Given the description of an element on the screen output the (x, y) to click on. 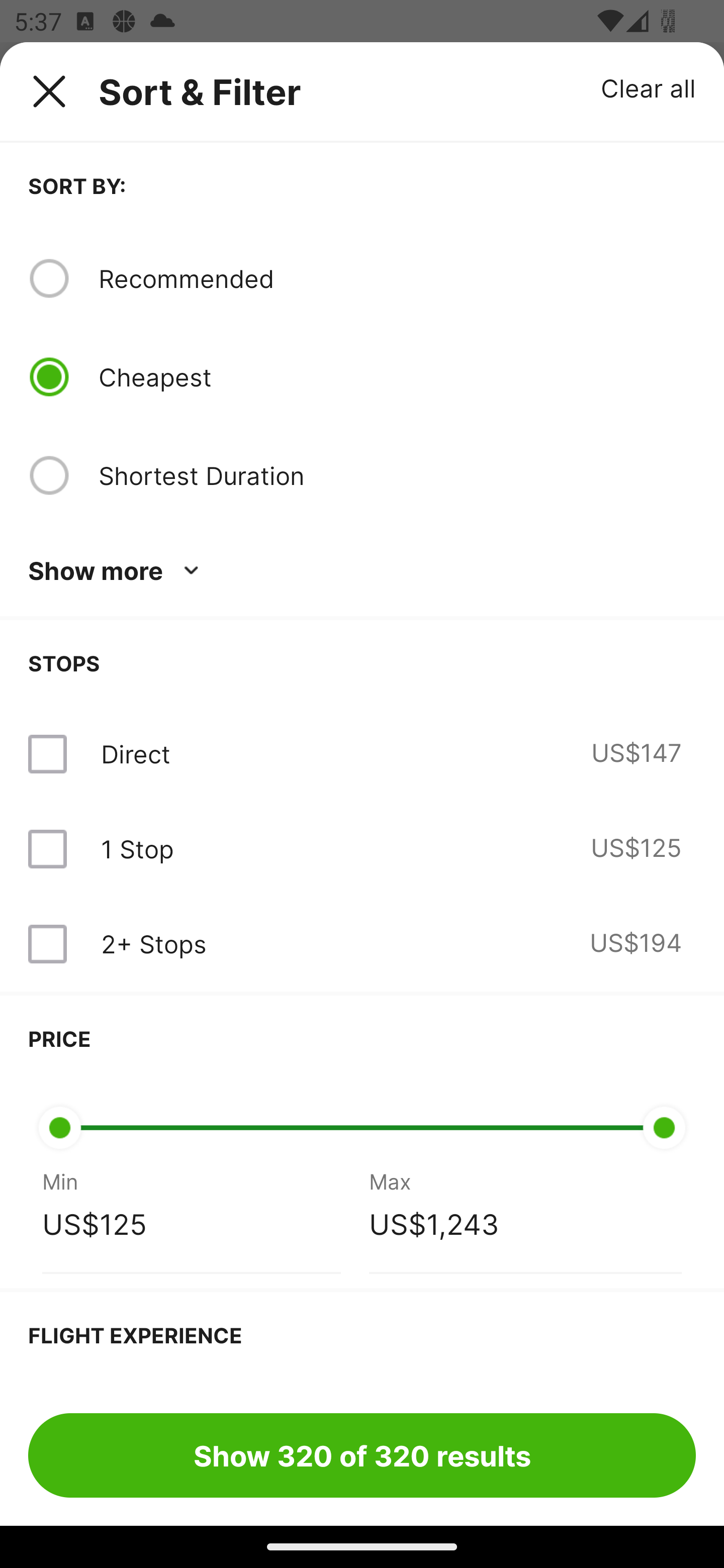
Clear all (648, 87)
Recommended  (396, 278)
Cheapest (396, 377)
Shortest Duration (396, 474)
Show more (116, 570)
Direct US$147 (362, 754)
Direct (135, 753)
1 Stop US$125 (362, 848)
1 Stop (136, 849)
2+ Stops US$194 (362, 943)
2+ Stops (153, 943)
Show 320 of 320 results (361, 1454)
